Given the description of an element on the screen output the (x, y) to click on. 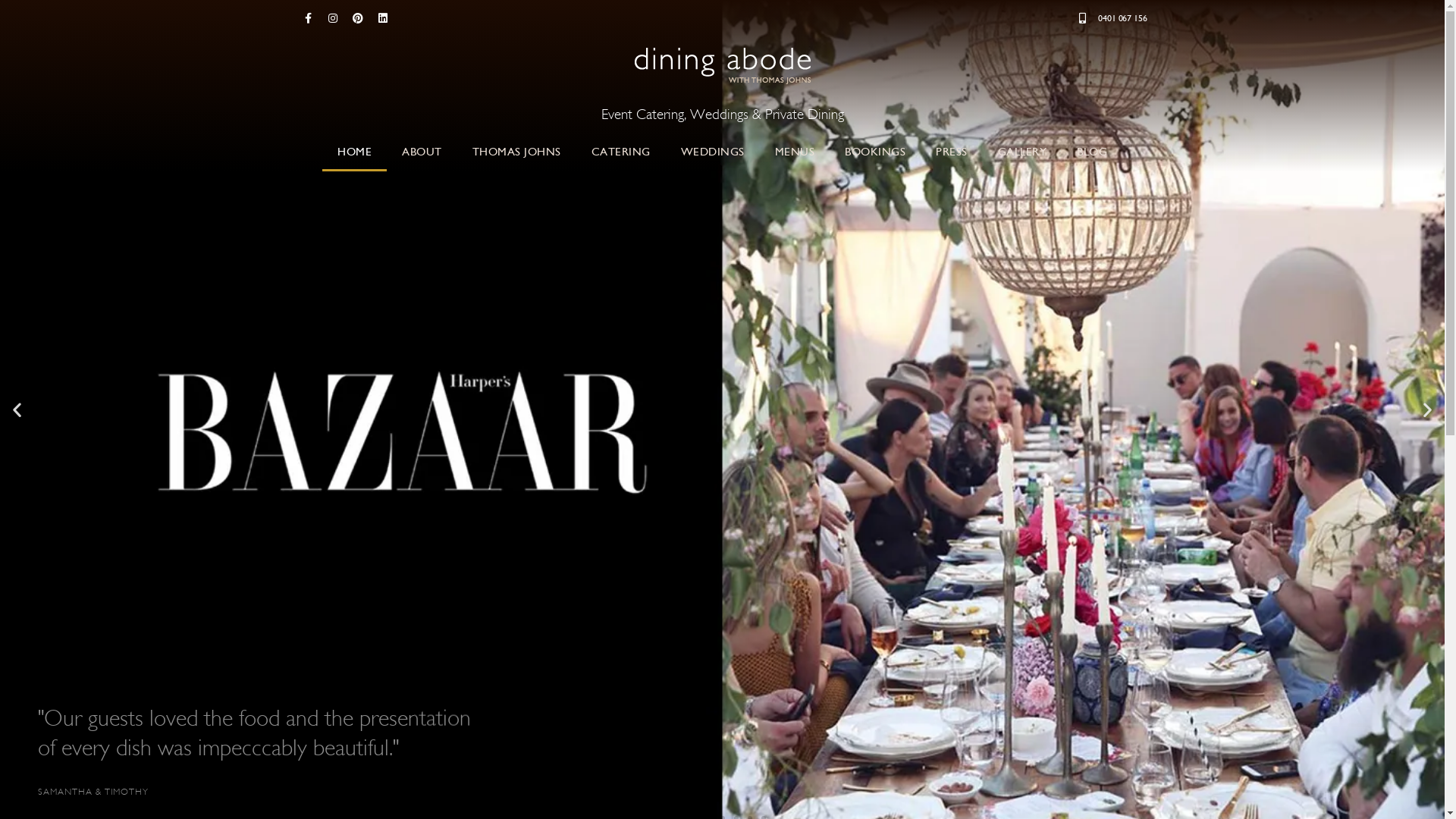
WEDDINGS Element type: text (712, 151)
ABOUT Element type: text (421, 151)
MENUS Element type: text (794, 151)
GALLERY Element type: text (1022, 151)
THOMAS JOHNS Element type: text (515, 151)
CATERING Element type: text (620, 151)
0401 067 156 Element type: text (1110, 18)
BLOG Element type: text (1091, 151)
HOME Element type: text (354, 151)
PRESS Element type: text (951, 151)
BOOKINGS Element type: text (874, 151)
